Given the description of an element on the screen output the (x, y) to click on. 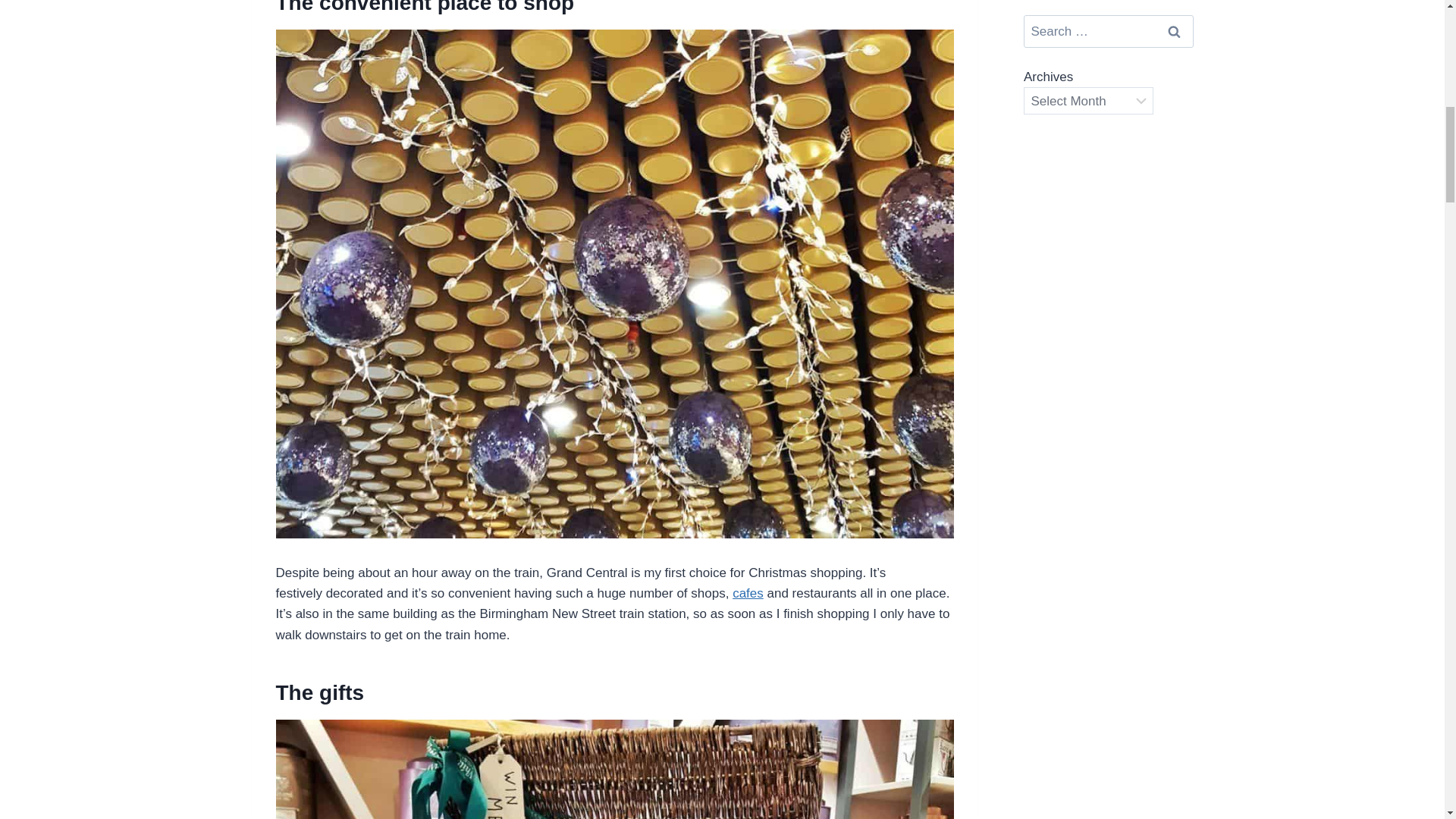
cafes (747, 593)
